Given the description of an element on the screen output the (x, y) to click on. 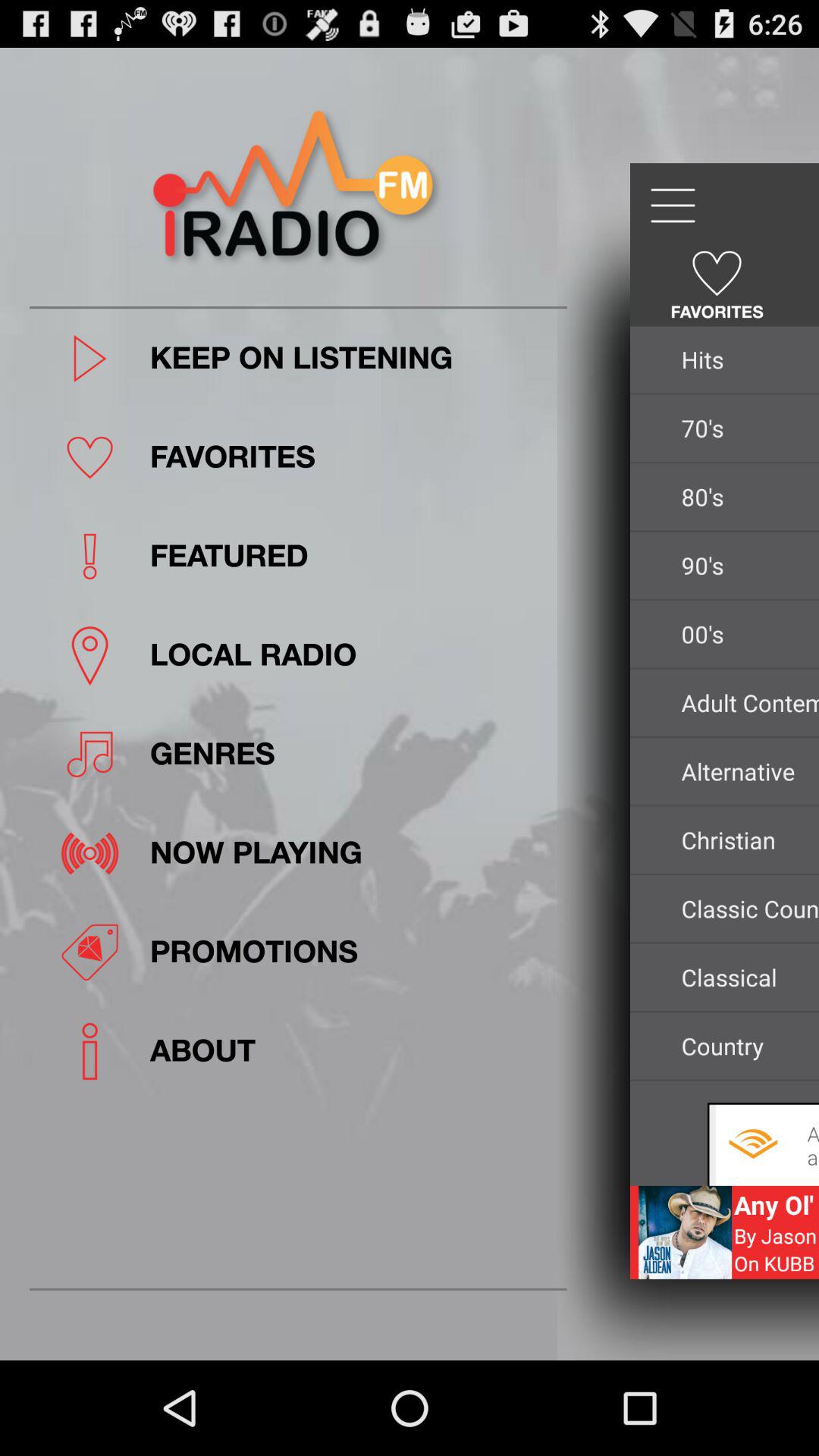
select the icon above country (745, 977)
